Given the description of an element on the screen output the (x, y) to click on. 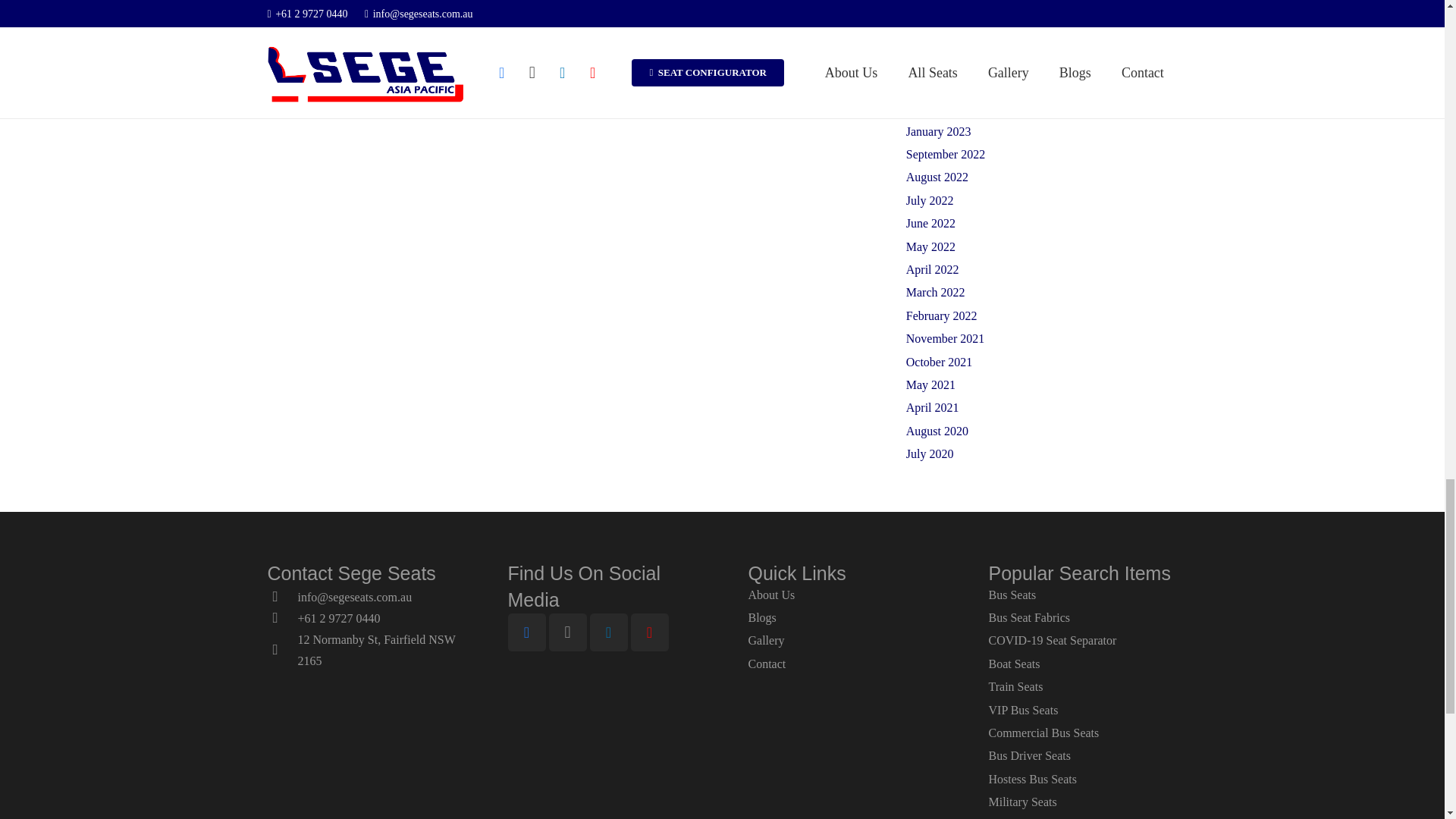
Where to Find Best Bus Seats in Sydney (414, 18)
